Given the description of an element on the screen output the (x, y) to click on. 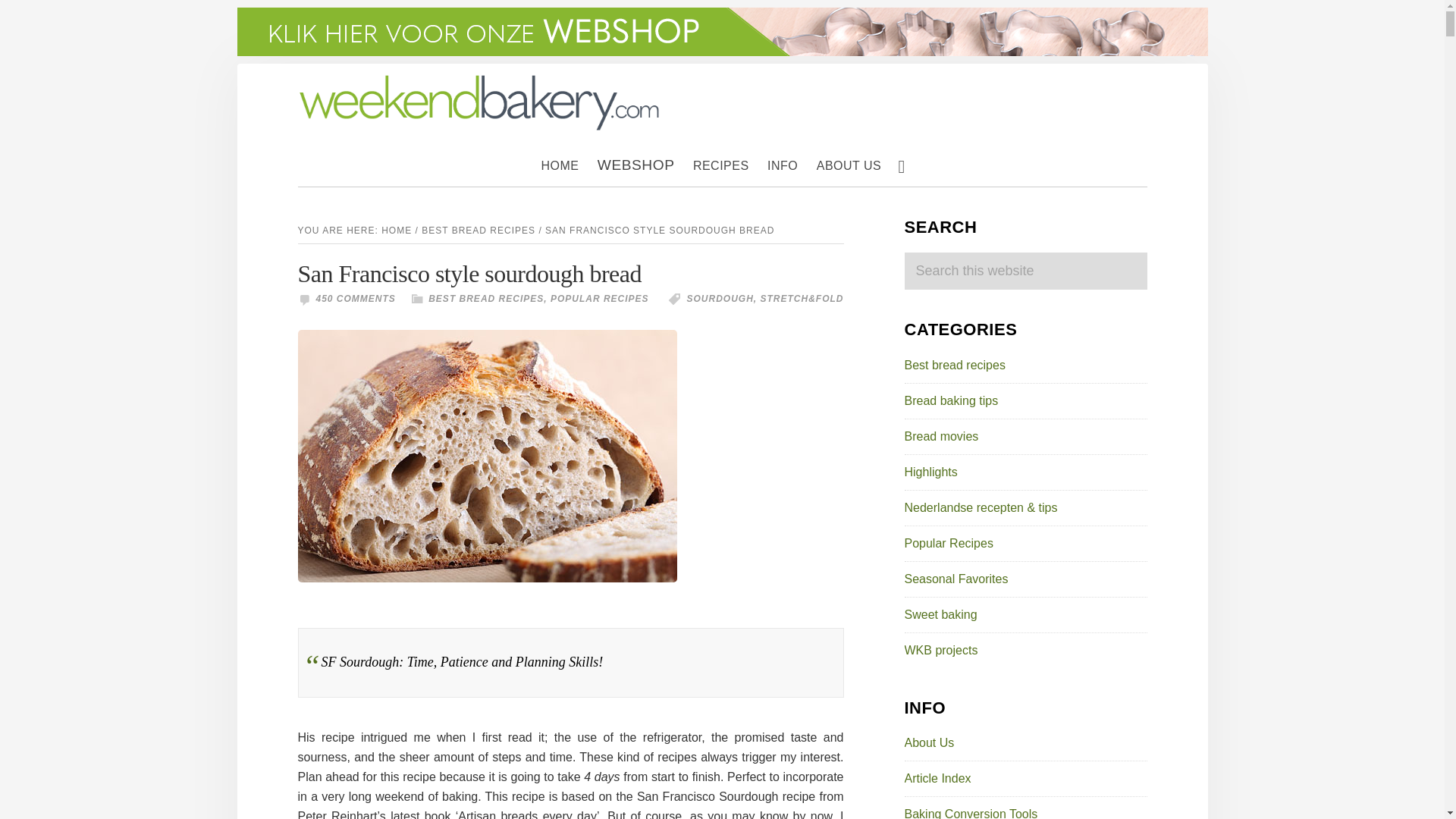
RECIPES (721, 165)
Weekend Bakery (479, 80)
WEBSHOP (635, 164)
HOME (559, 165)
Weekend Bakery (479, 102)
